Given the description of an element on the screen output the (x, y) to click on. 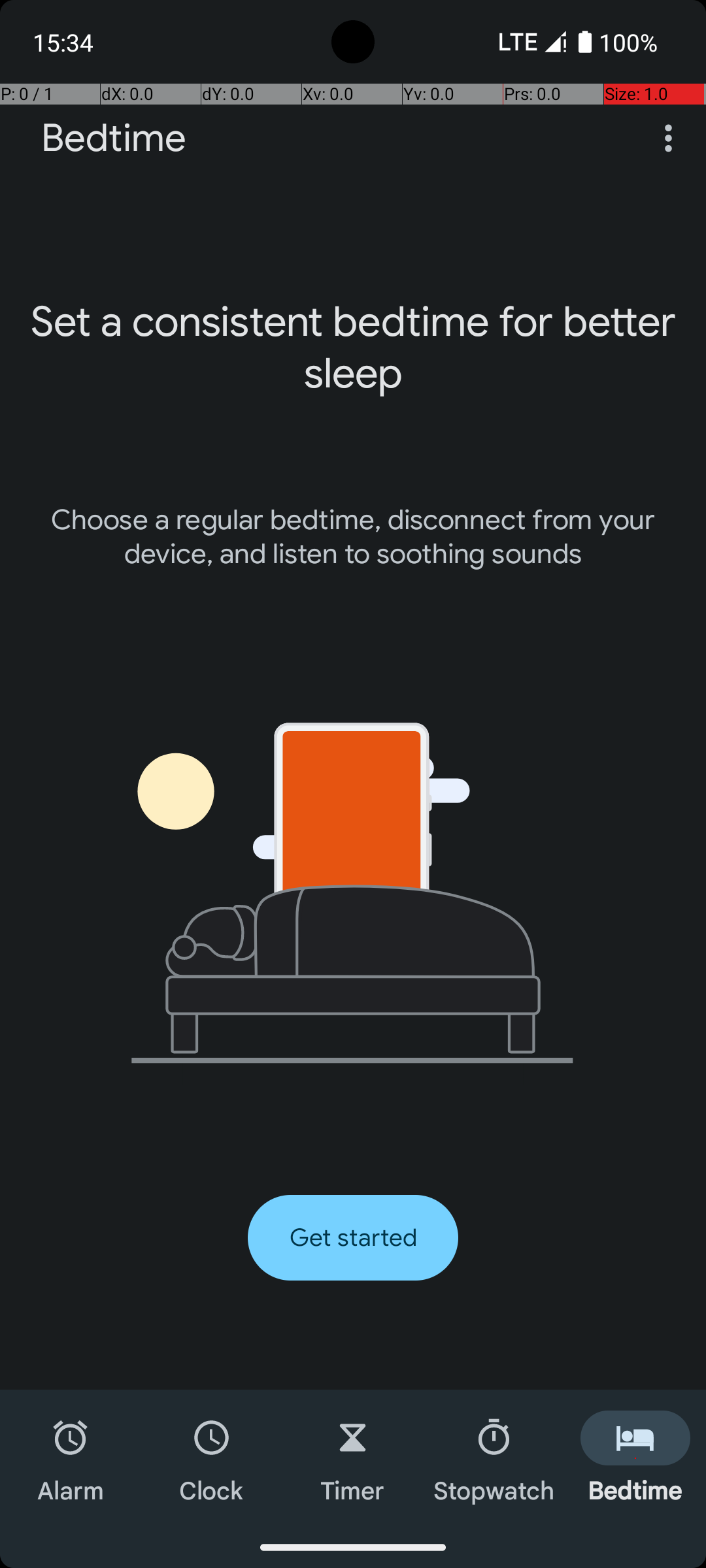
Set a consistent bedtime for better sleep Element type: android.widget.TextView (352, 347)
Choose a regular bedtime, disconnect from your device, and listen to soothing sounds Element type: android.widget.TextView (352, 536)
